Given the description of an element on the screen output the (x, y) to click on. 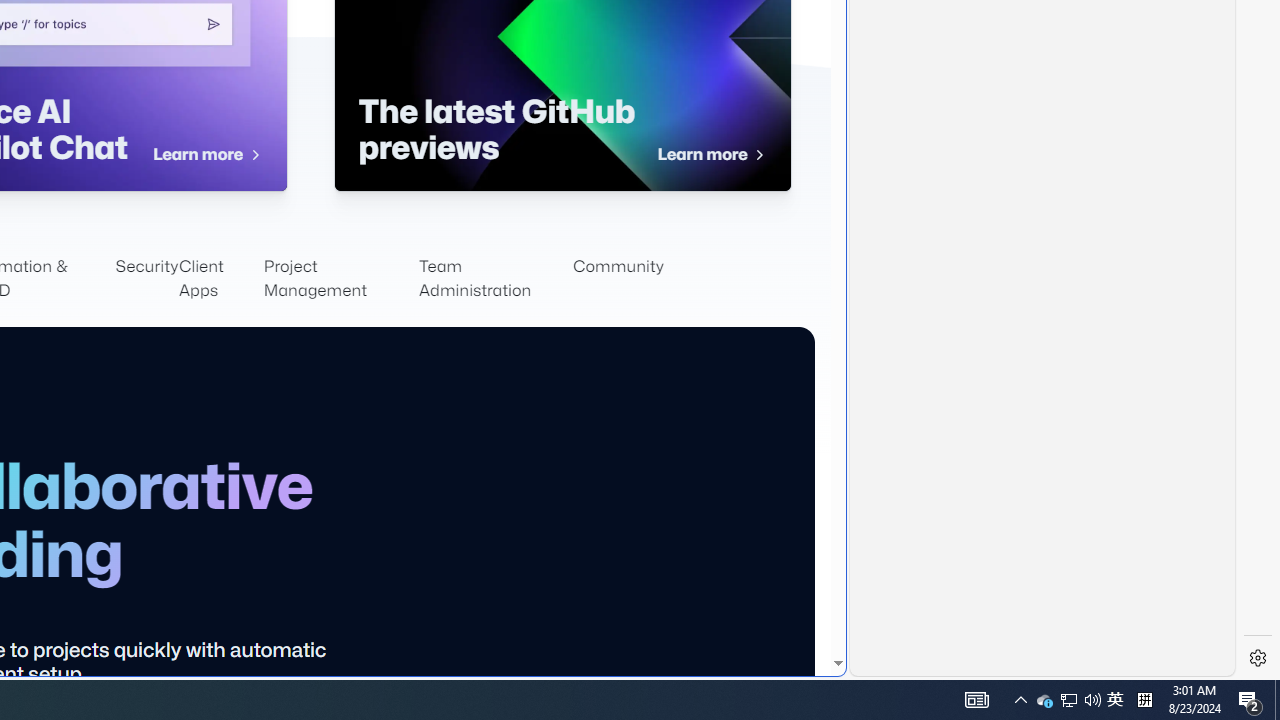
Tray Input Indicator - Chinese (Simplified, China) (1144, 699)
Class: octicon arrow-symbol-mktg octicon (758, 155)
Action Center, 2 new notifications (1250, 699)
